Given the description of an element on the screen output the (x, y) to click on. 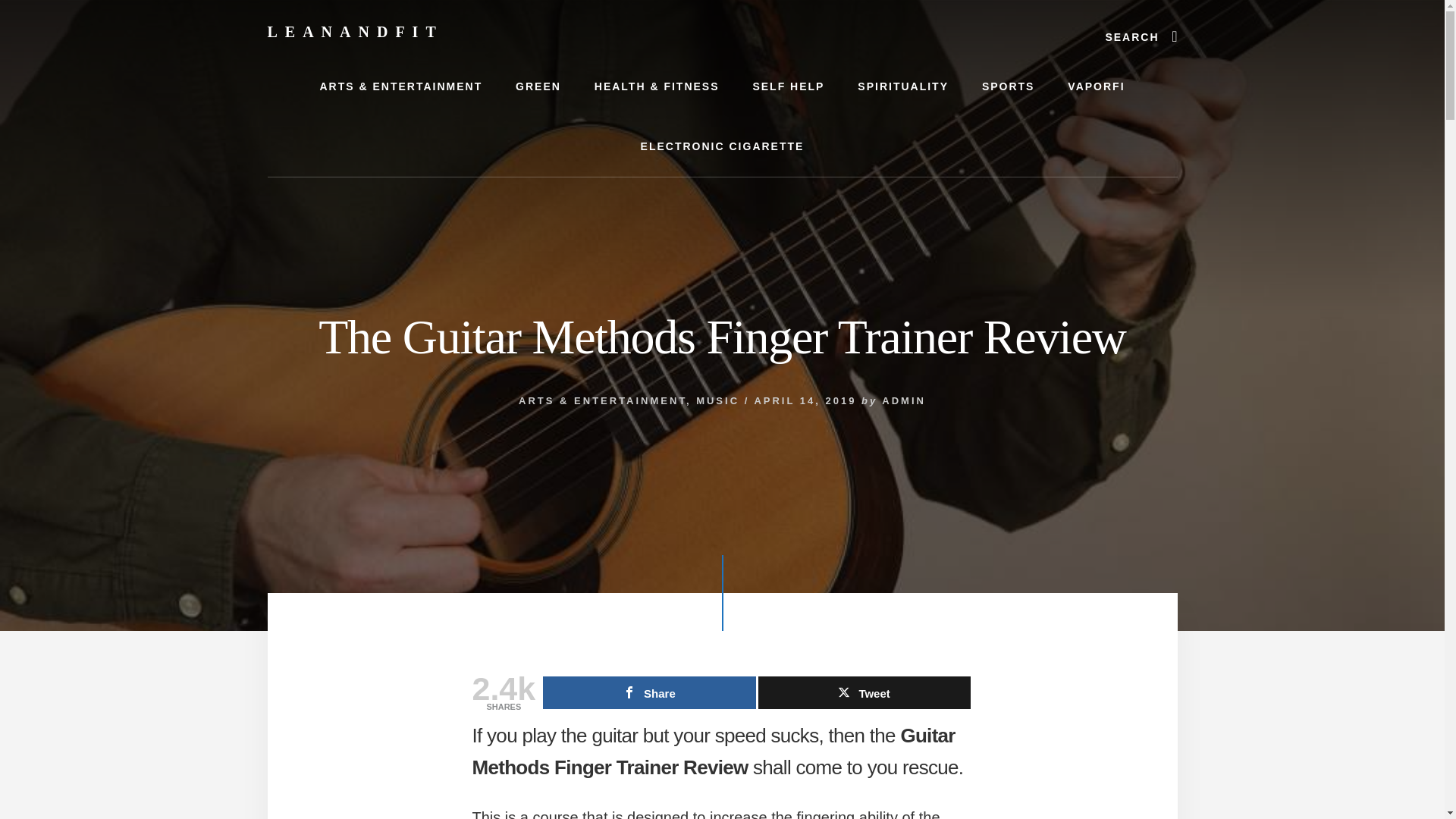
LEANANDFIT (354, 31)
GREEN (538, 86)
